Given the description of an element on the screen output the (x, y) to click on. 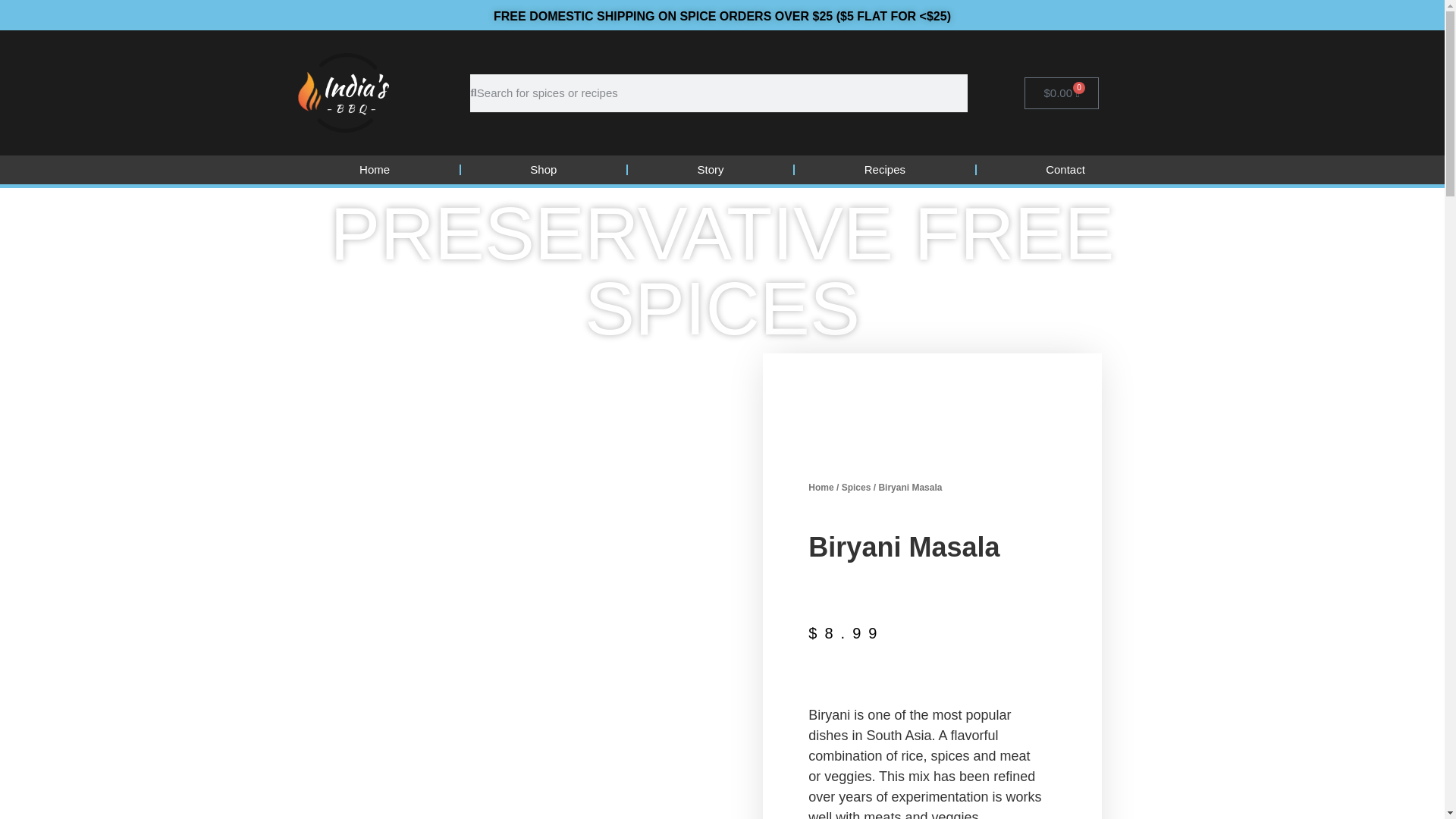
Contact (1065, 169)
Story (710, 169)
Recipes (884, 169)
Shop (543, 169)
Home (373, 169)
